Given the description of an element on the screen output the (x, y) to click on. 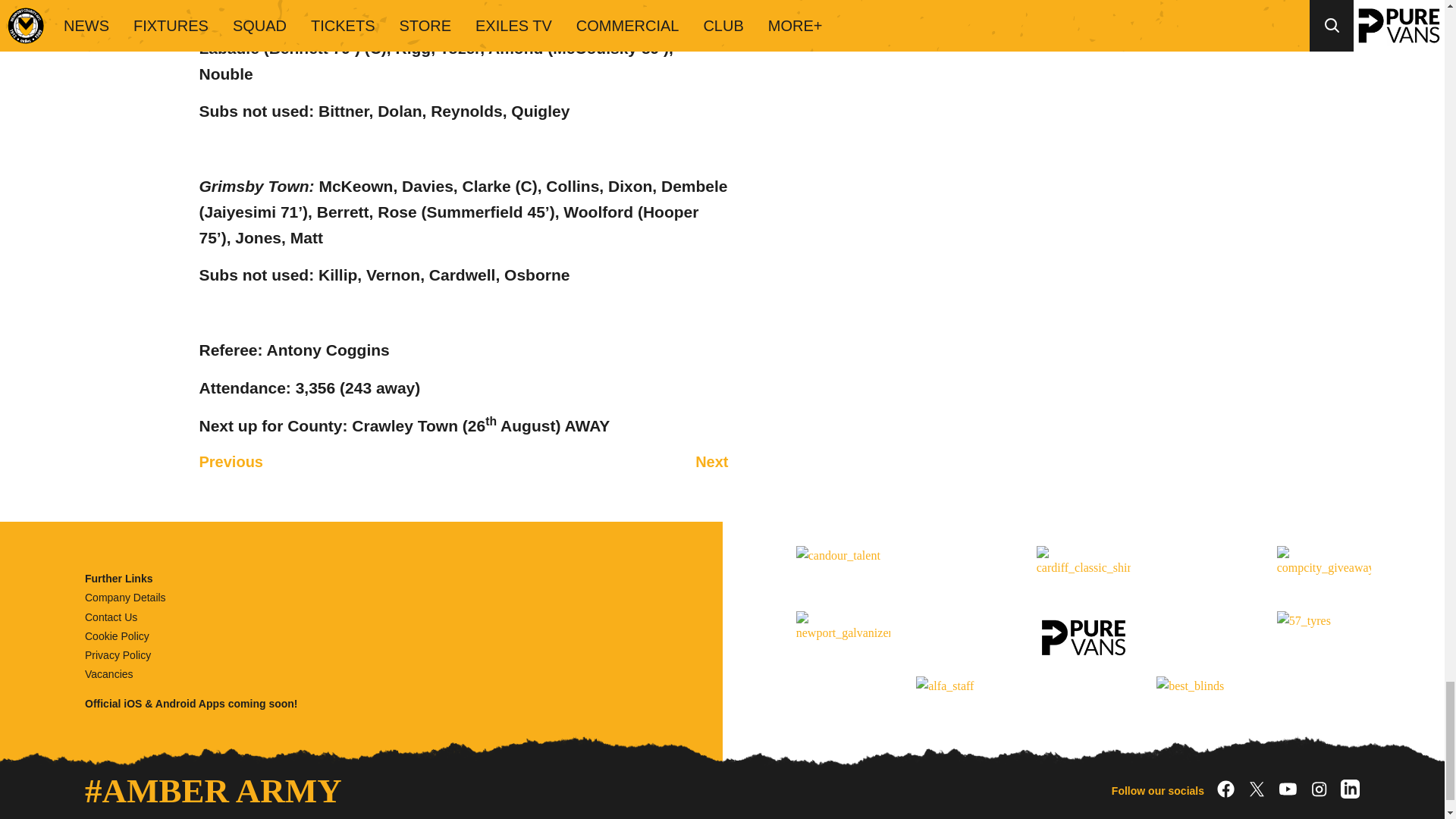
Newport Galvanizers (842, 637)
Cardiff Classic Shirts (1083, 572)
Best Blinds (1203, 702)
Alfa Staff (962, 702)
Candour Talent (842, 572)
CompCity Giveaways (1323, 572)
57 Tyres (1323, 637)
Pure Vans (1083, 637)
X Icon (1256, 788)
